Given the description of an element on the screen output the (x, y) to click on. 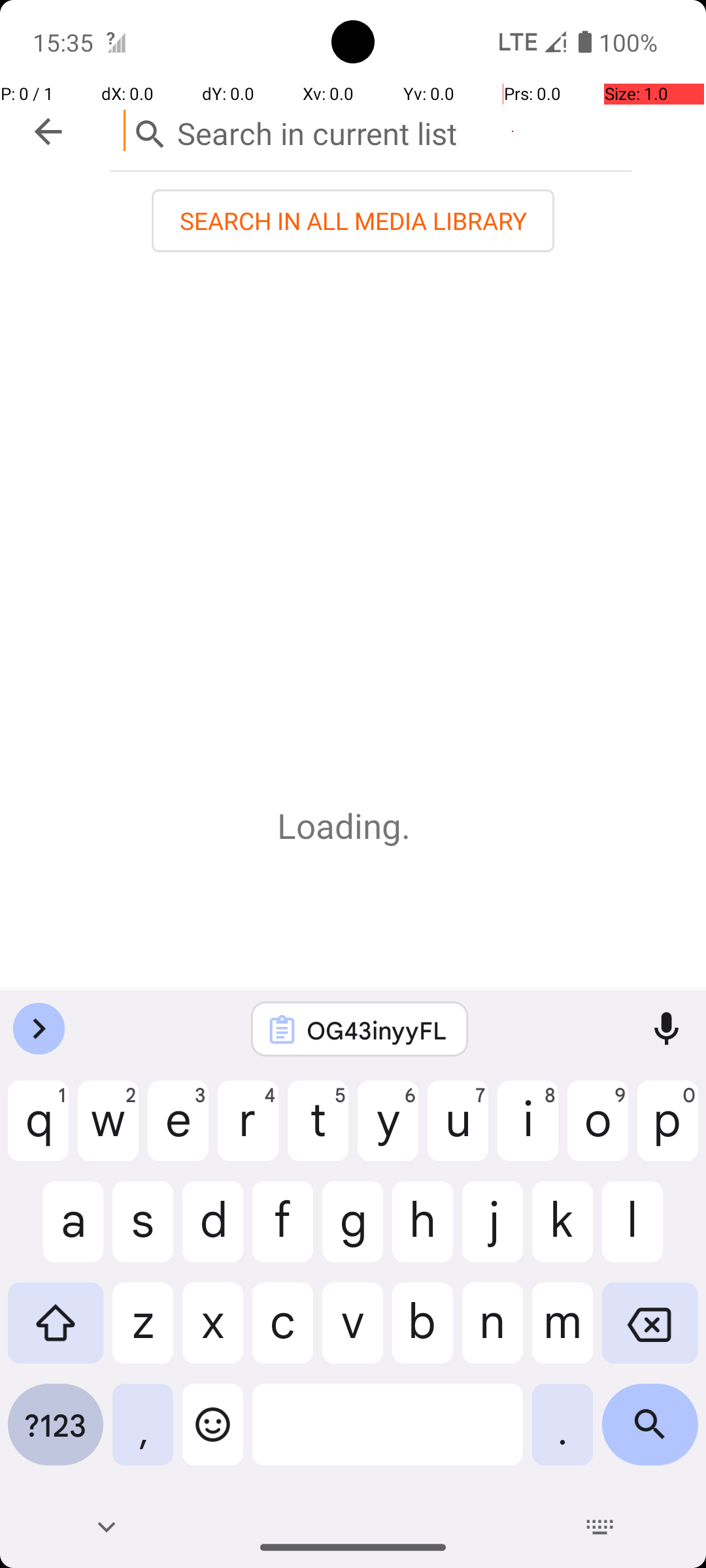
SEARCH IN ALL MEDIA LIBRARY Element type: android.widget.Button (352, 220)
   Search in current list Element type: android.widget.AutoCompleteTextView (370, 130)
OG43inyyFL Element type: android.widget.TextView (376, 1029)
